Given the description of an element on the screen output the (x, y) to click on. 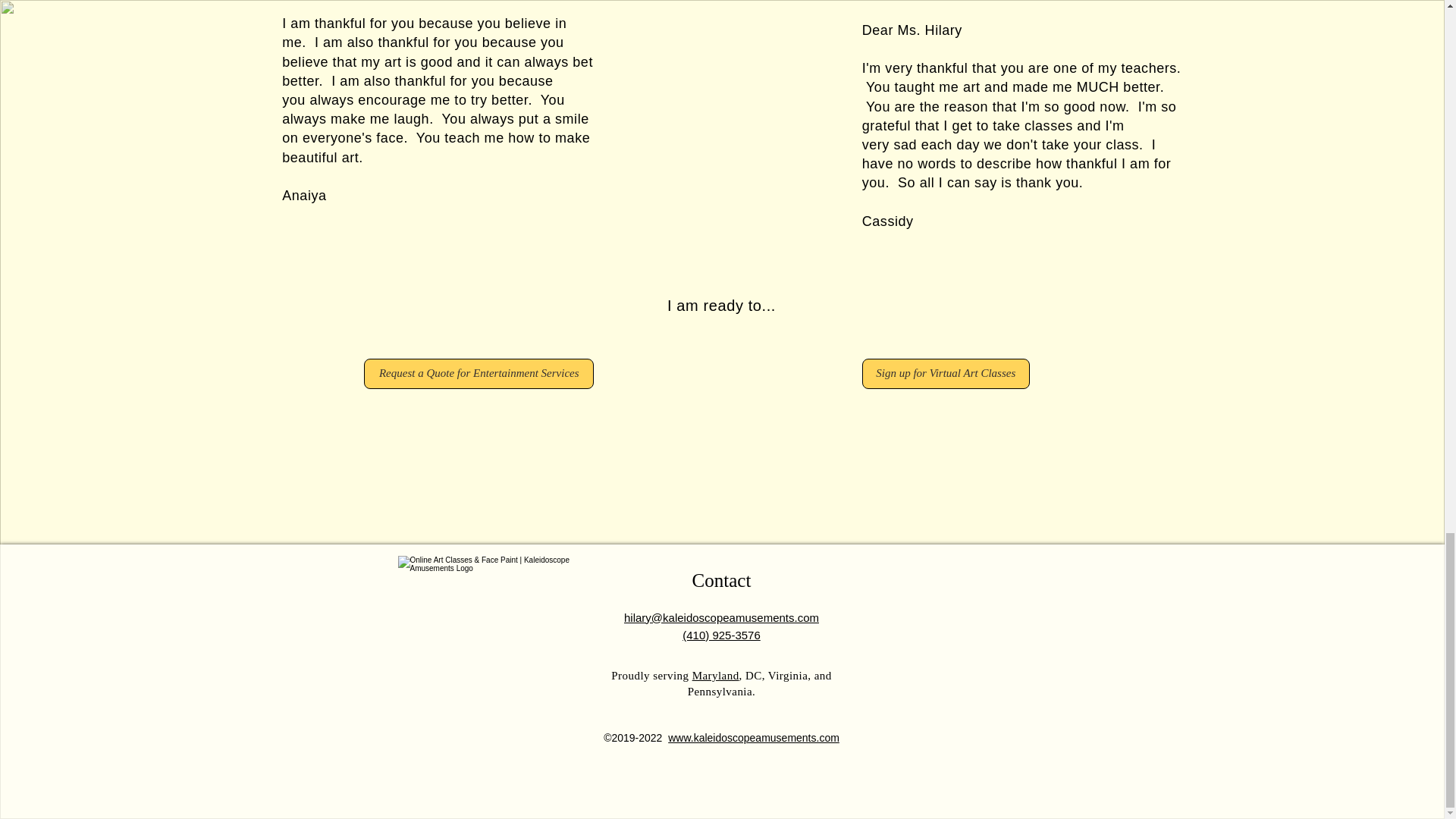
www.kaleidoscopeamusements.com (754, 737)
Sign up for Virtual Art Classes (945, 373)
Request a Quote for Entertainment Services (479, 373)
Maryland (716, 675)
